Given the description of an element on the screen output the (x, y) to click on. 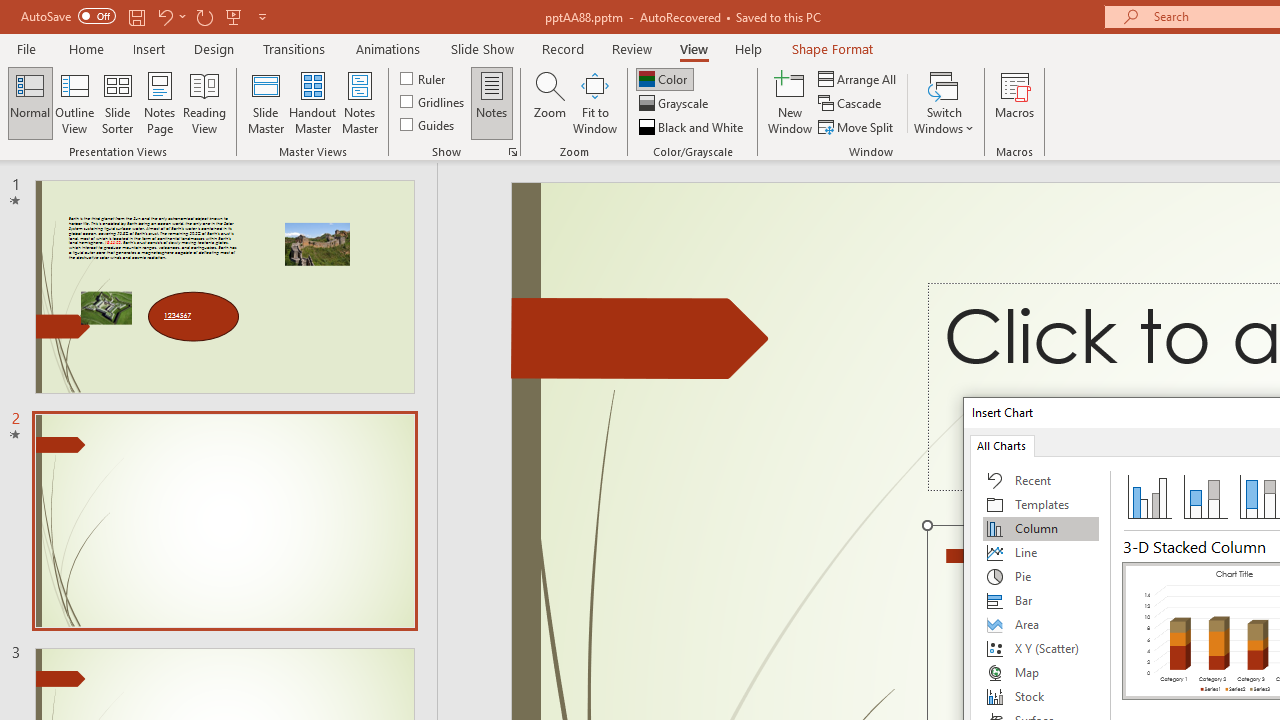
Column (1041, 528)
Notes Page (159, 102)
Notes (492, 102)
Cascade (851, 103)
Zoom... (549, 102)
Black and White (693, 126)
